Given the description of an element on the screen output the (x, y) to click on. 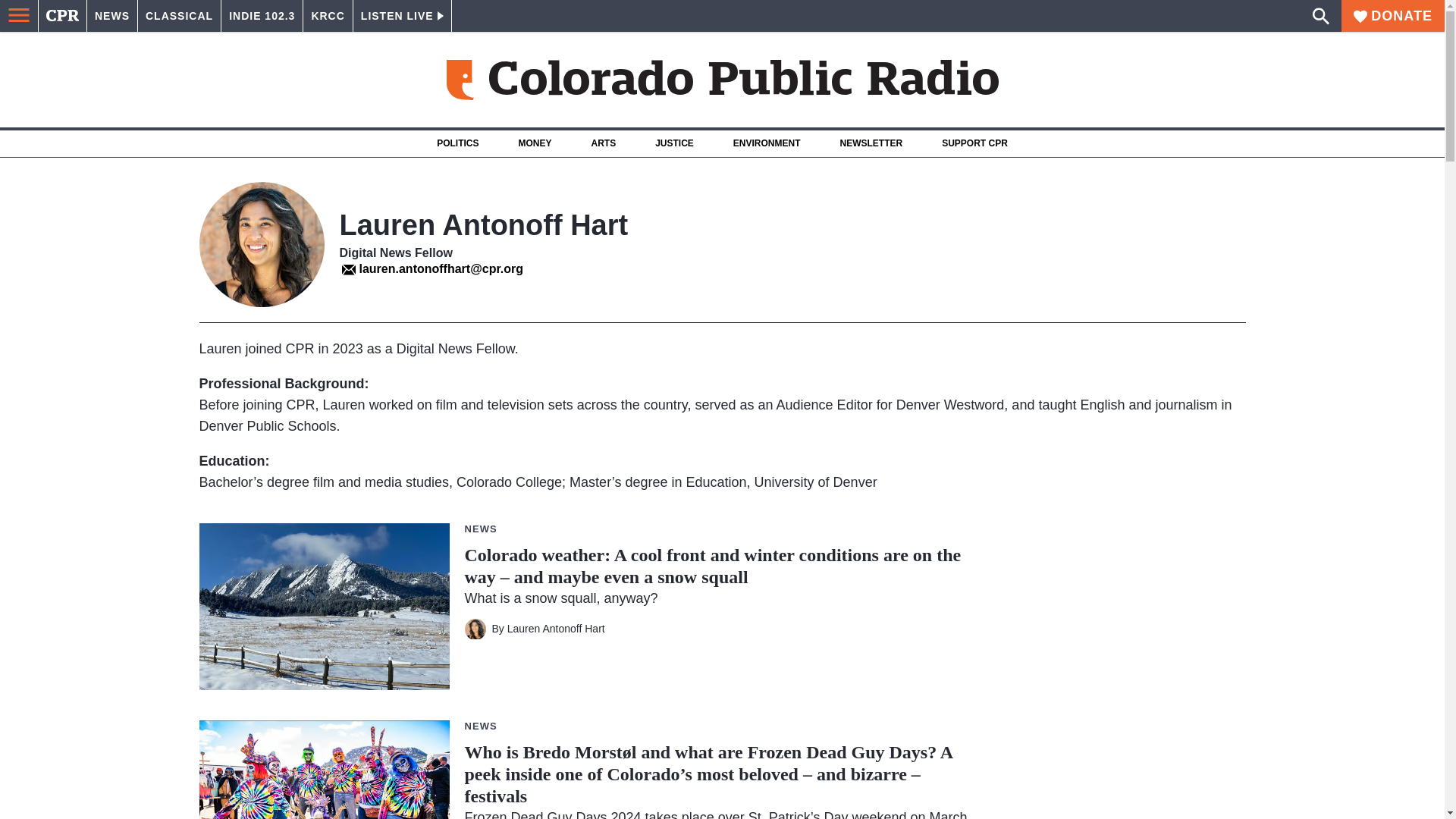
INDIE 102.3 (261, 15)
KRCC (327, 15)
NEWS (111, 15)
LISTEN LIVE (402, 15)
CLASSICAL (179, 15)
